Given the description of an element on the screen output the (x, y) to click on. 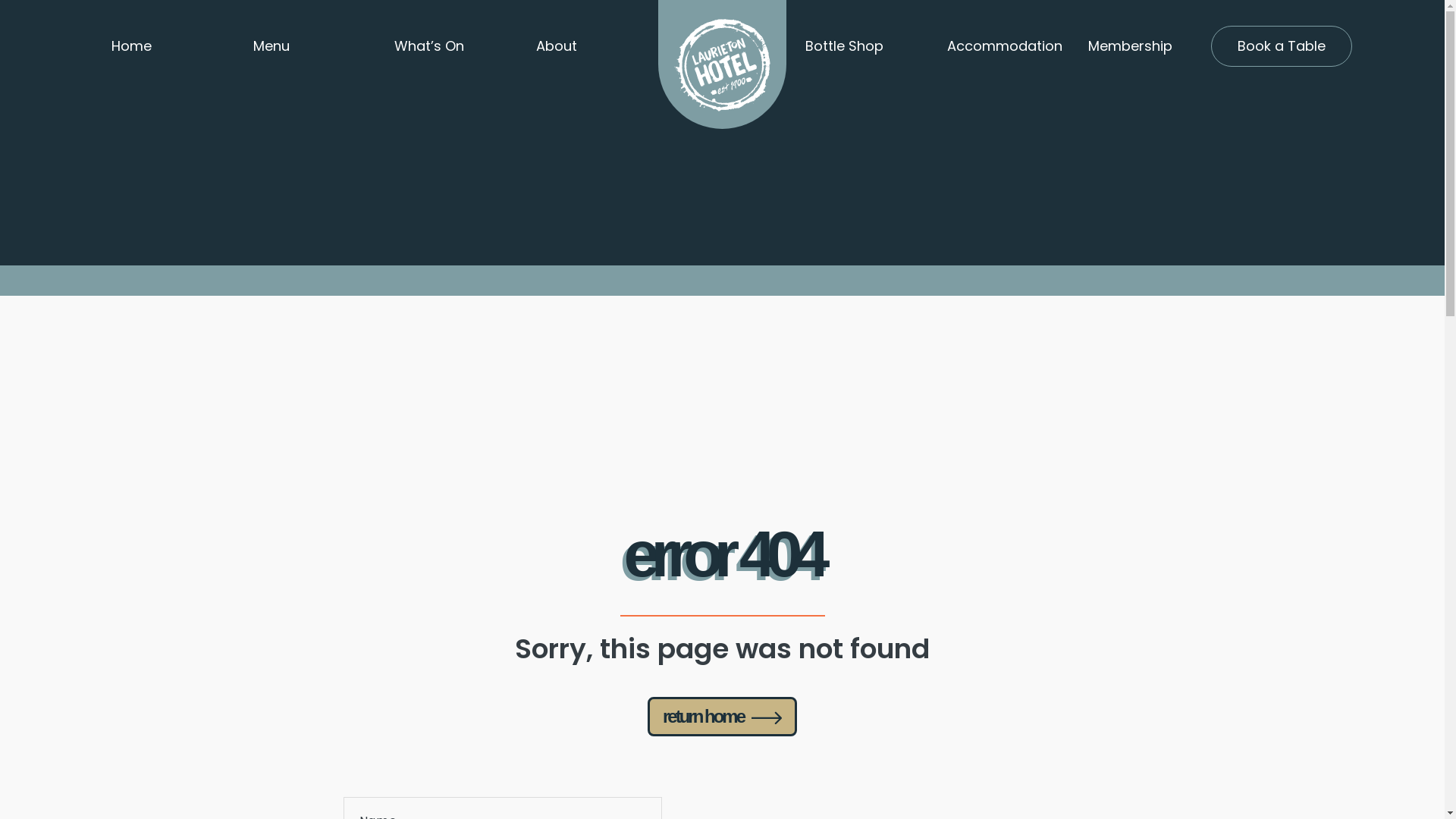
Home Element type: text (163, 46)
Book a Table Element type: text (1281, 45)
Accommodation Element type: text (1004, 46)
Menu Element type: text (304, 46)
Membership Element type: text (1140, 46)
return home Element type: text (722, 716)
About Element type: text (587, 46)
Bottle Shop Element type: text (857, 46)
